Given the description of an element on the screen output the (x, y) to click on. 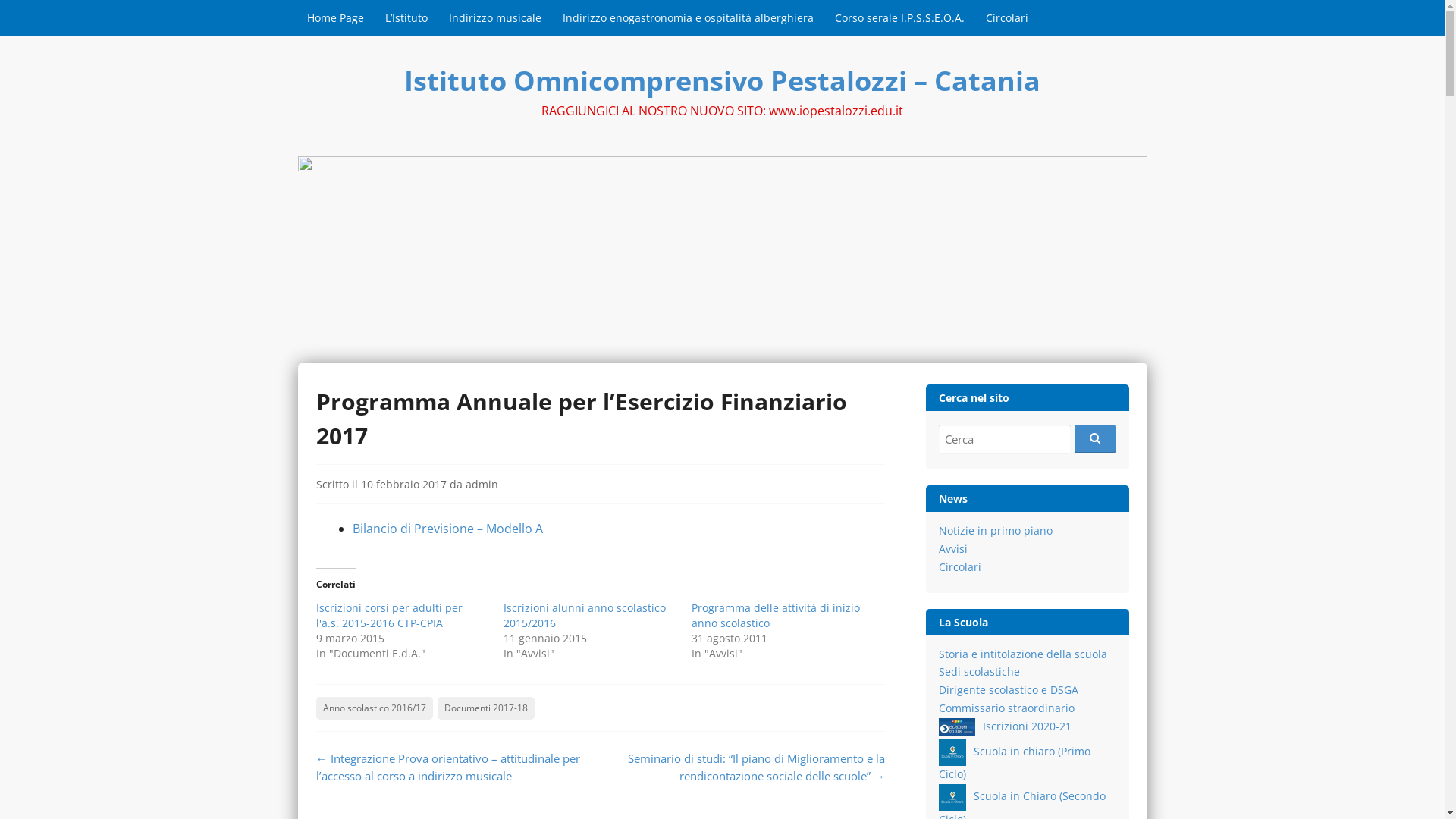
10 febbraio 2017 Element type: text (403, 483)
Storia e intitolazione della scuola Element type: text (1022, 653)
Scuola in chiaro (Primo Ciclo) Element type: text (1014, 762)
admin Element type: text (481, 483)
Home Page Element type: text (334, 18)
Dirigente scolastico e DSGA Element type: text (1008, 689)
Iscrizioni alunni anno scolastico 2015/2016 Element type: text (584, 615)
Iscrizioni corsi per adulti per l'a.s. 2015-2016 CTP-CPIA Element type: text (388, 615)
Avvisi Element type: text (952, 548)
Notizie in primo piano Element type: text (995, 530)
Sedi scolastiche Element type: text (978, 671)
Documenti 2017-18 Element type: text (484, 707)
Circolari Element type: text (959, 566)
Iscrizioni 2020-21 Element type: text (1004, 725)
Indirizzo musicale Element type: text (494, 18)
Anno scolastico 2016/17 Element type: text (373, 707)
Salta al contenuto Element type: text (352, 7)
Ricerca Element type: hover (1004, 439)
Circolari Element type: text (1006, 18)
Commissario straordinario Element type: text (1006, 707)
Corso serale I.P.S.S.E.O.A. Element type: text (898, 18)
